Given the description of an element on the screen output the (x, y) to click on. 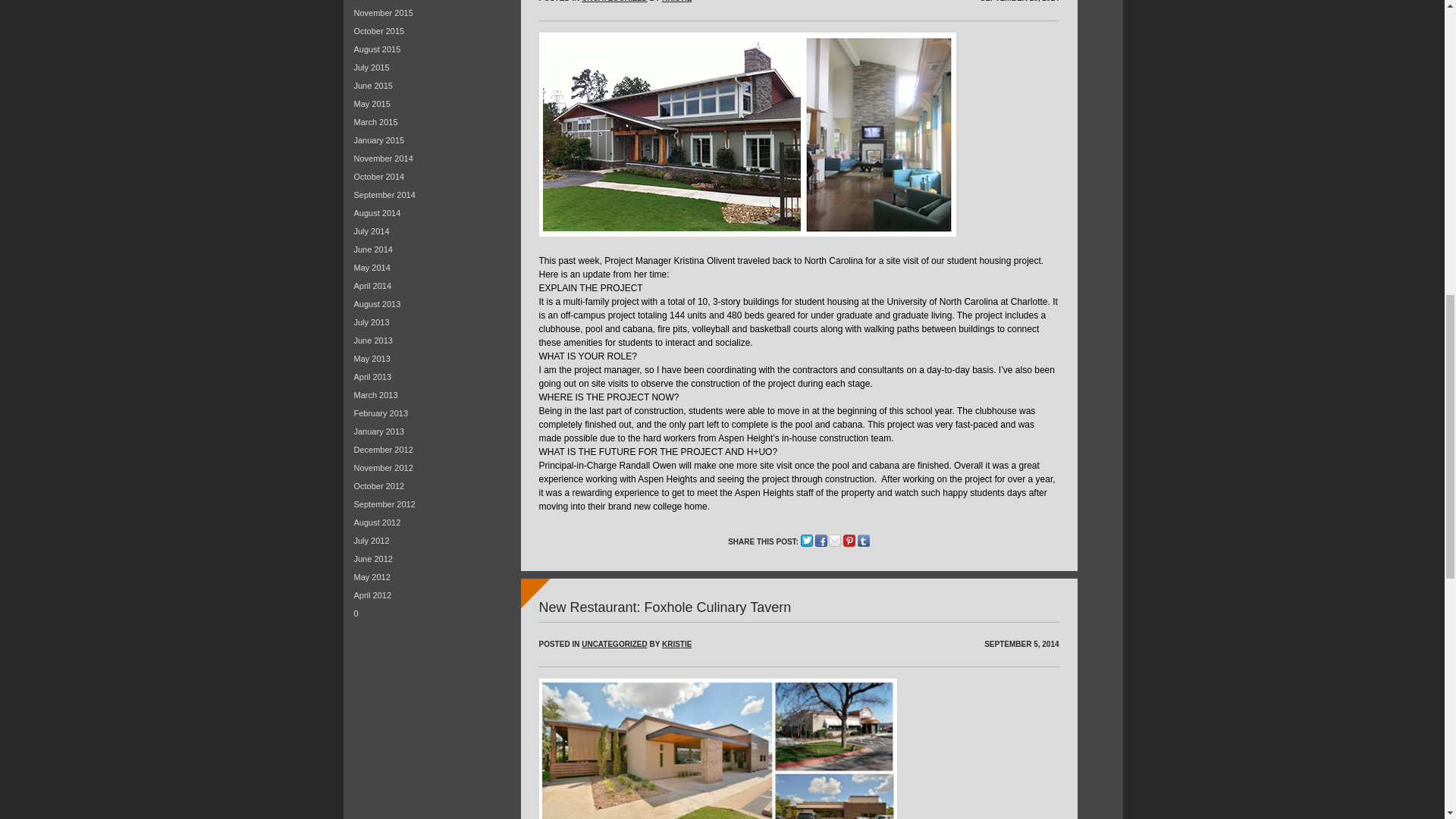
November 2015 (382, 12)
October 2015 (378, 31)
